Given the description of an element on the screen output the (x, y) to click on. 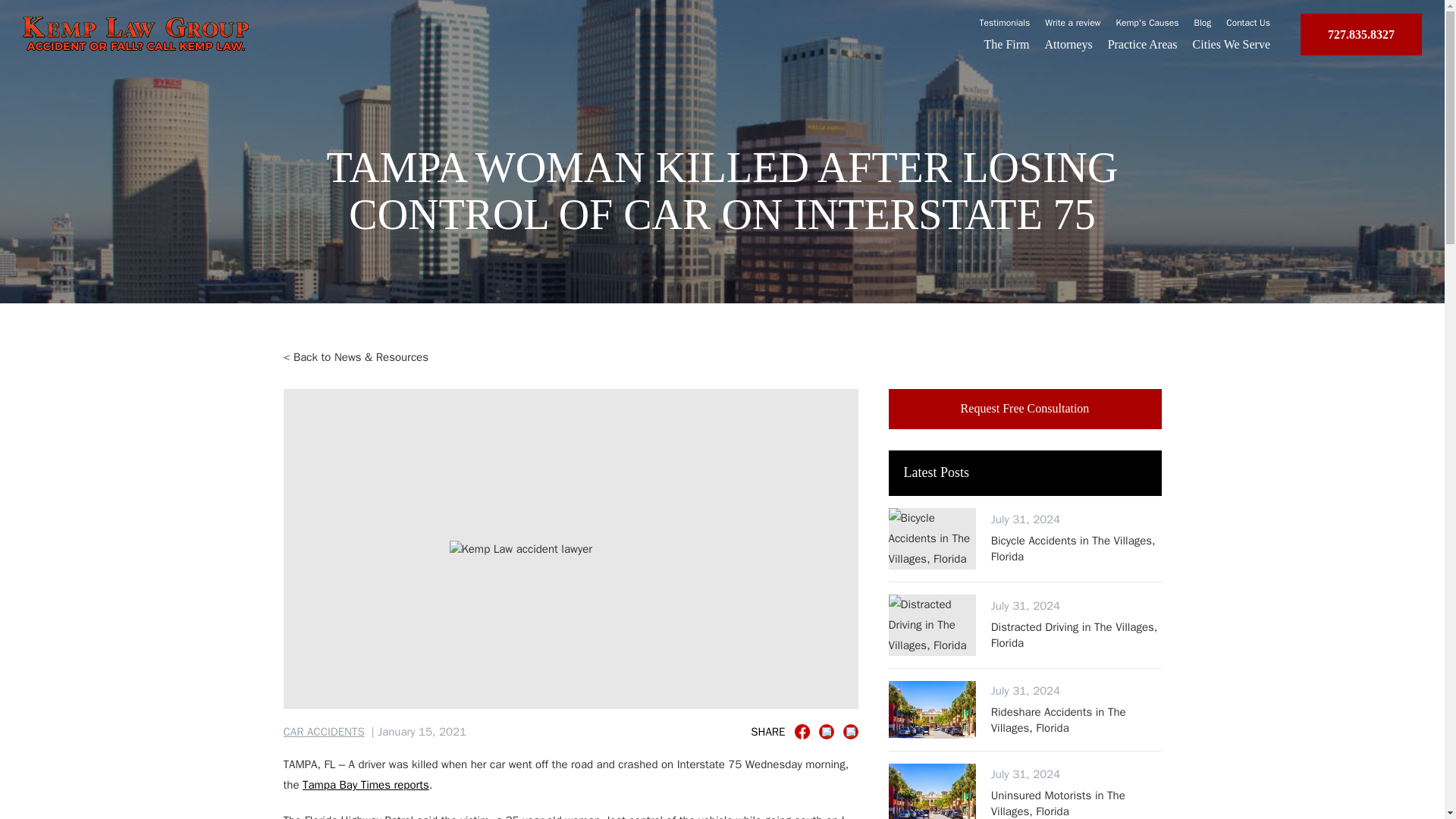
Contact Us (1247, 22)
Uninsured Motorists in The Villages, Florida (1076, 803)
Share in Facebook (801, 731)
CAR ACCIDENTS (324, 731)
727.835.8327 (1361, 34)
Bicycle Accidents in The Villages, Florida (1076, 548)
Blog (1202, 22)
Tampa Bay Times reports (365, 784)
Latest Posts (1024, 473)
Testimonials (1004, 22)
Attorneys (1069, 43)
Cities We Serve (1230, 43)
Distracted Driving in The Villages, Florida (1076, 634)
Rideshare Accidents in The Villages, Florida (1076, 719)
